Given the description of an element on the screen output the (x, y) to click on. 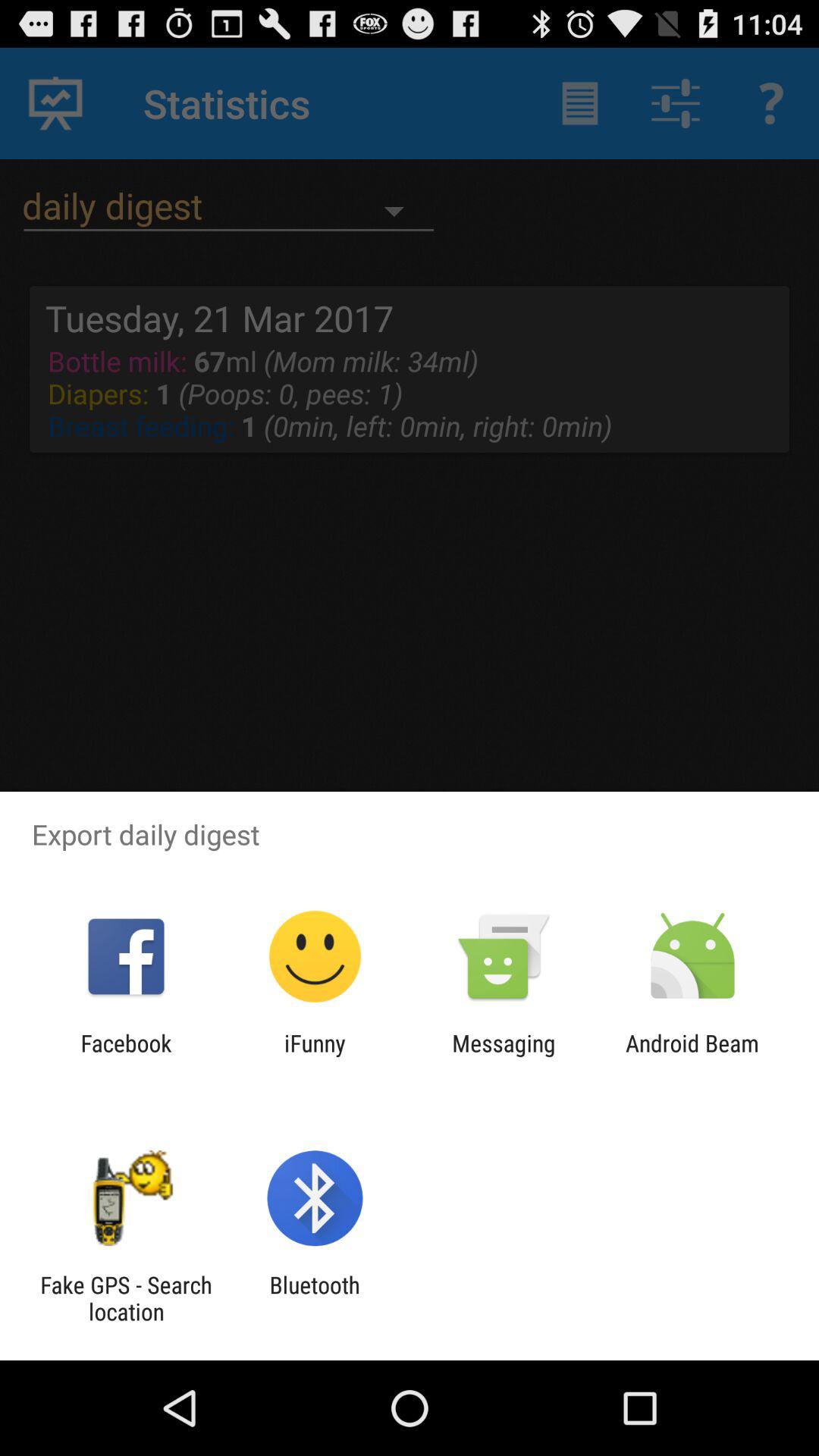
click icon next to the messaging item (692, 1056)
